Given the description of an element on the screen output the (x, y) to click on. 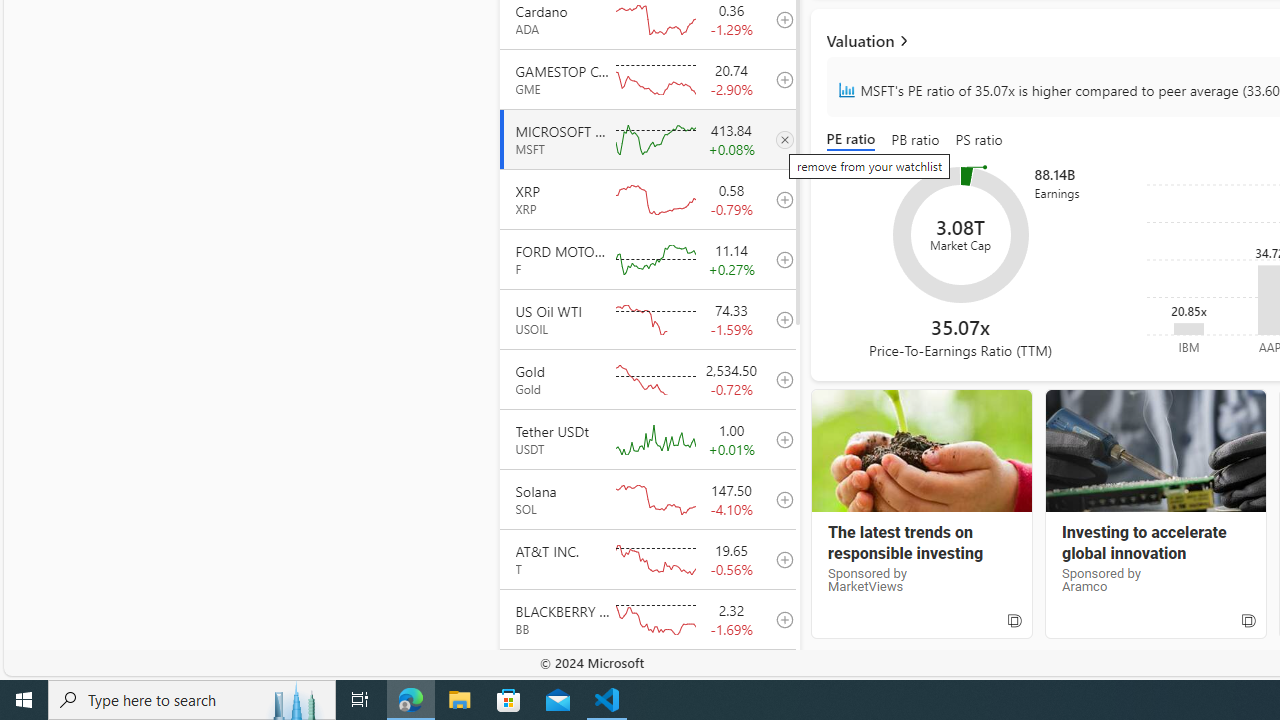
remove from your watchlist (779, 138)
PE ratio (854, 140)
MarketViews (921, 451)
Class: removeIcon (783, 139)
PB ratio (915, 140)
